Given the description of an element on the screen output the (x, y) to click on. 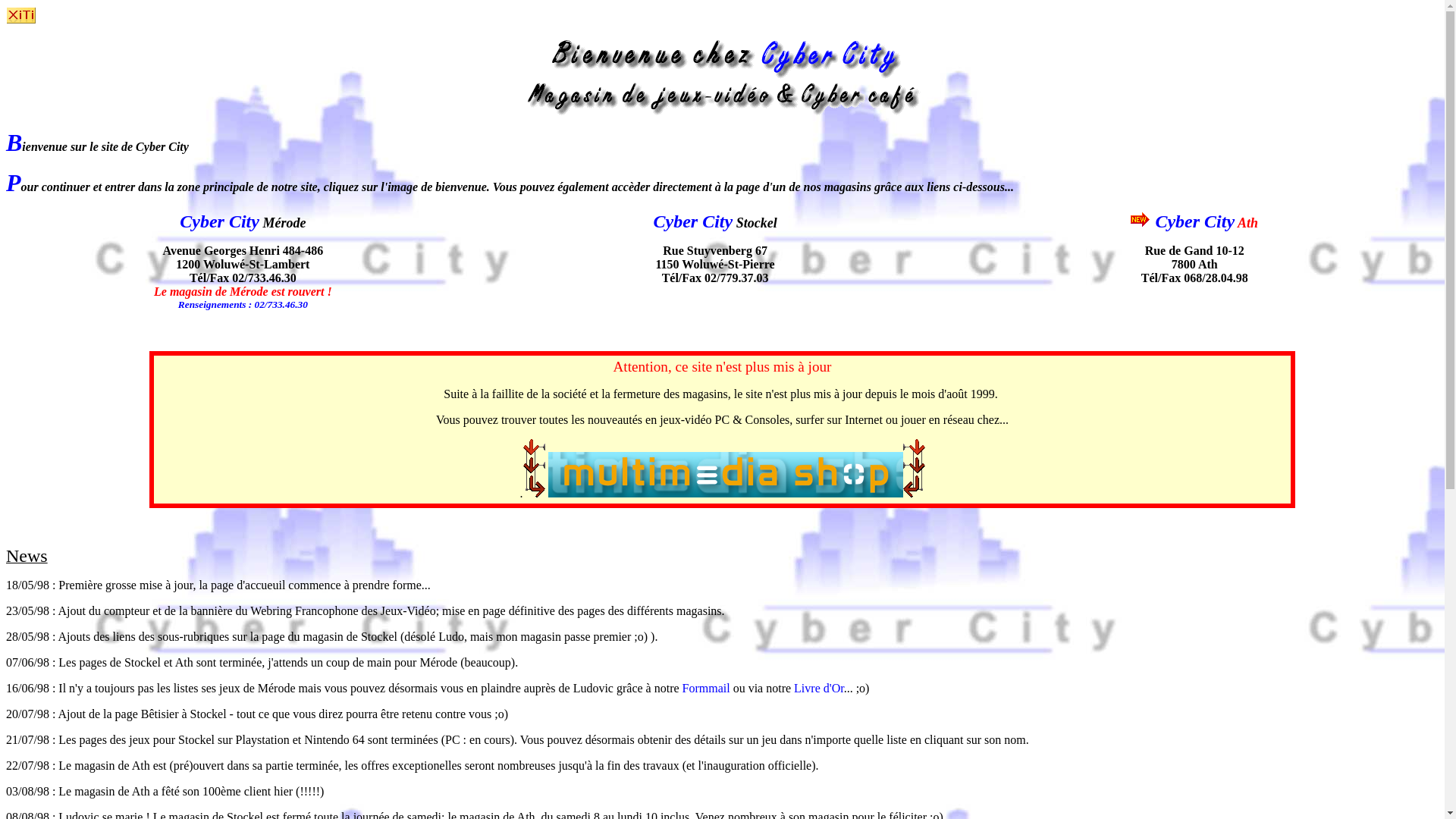
Livre d'Or Element type: text (818, 687)
Cyber City Stockel Element type: text (715, 222)
Cyber City Ath Element type: text (1206, 222)
Formmail Element type: text (706, 687)
Mesurez votre audience Element type: hover (20, 15)
